Given the description of an element on the screen output the (x, y) to click on. 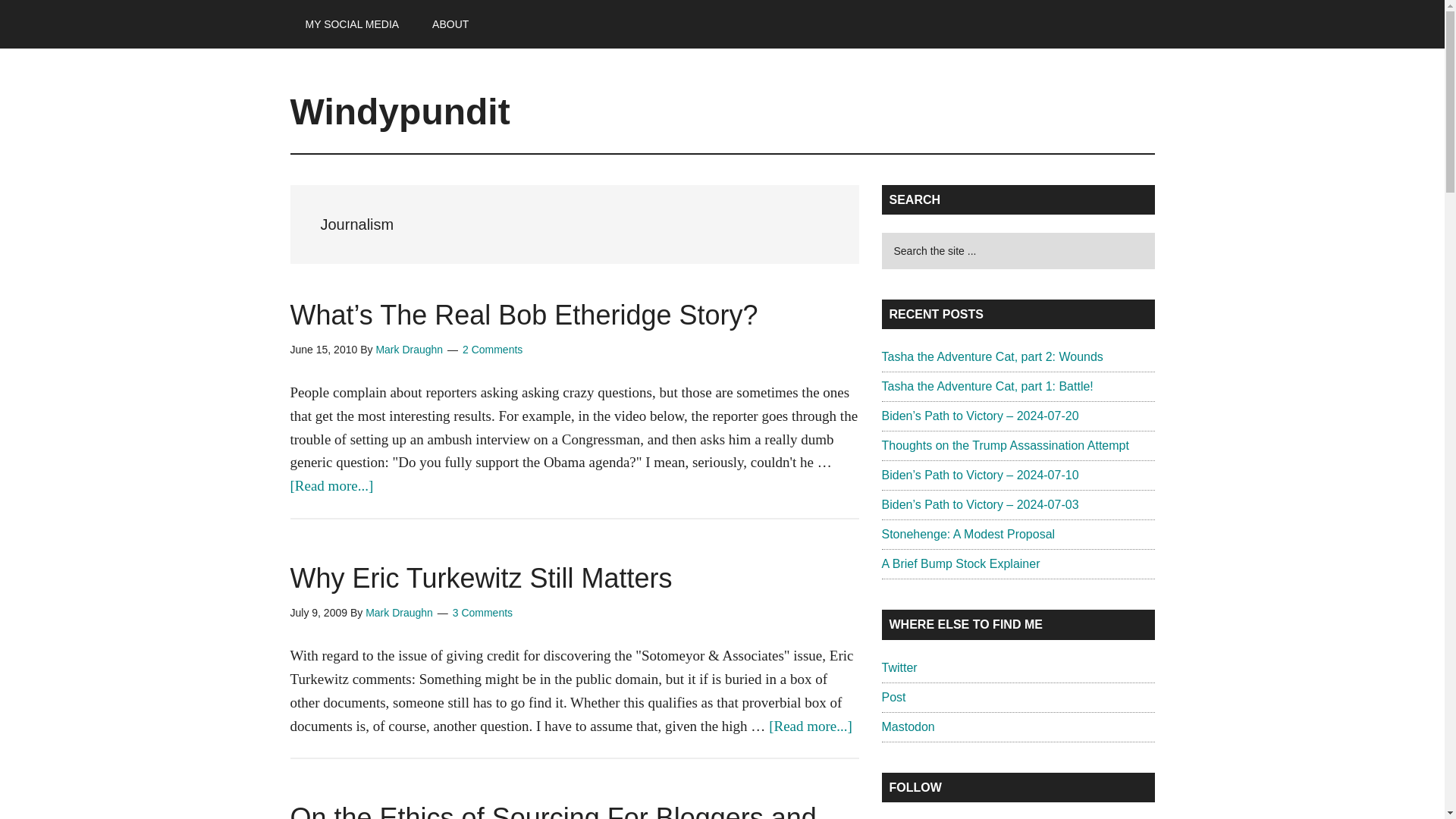
Mark Draughn (408, 349)
Mark Draughn (398, 612)
Windypundit (399, 111)
3 Comments (482, 612)
On the Ethics of Sourcing For Bloggers and Journalists (552, 810)
Tasha the Adventure Cat, part 2: Wounds (991, 356)
MY SOCIAL MEDIA (351, 24)
